Given the description of an element on the screen output the (x, y) to click on. 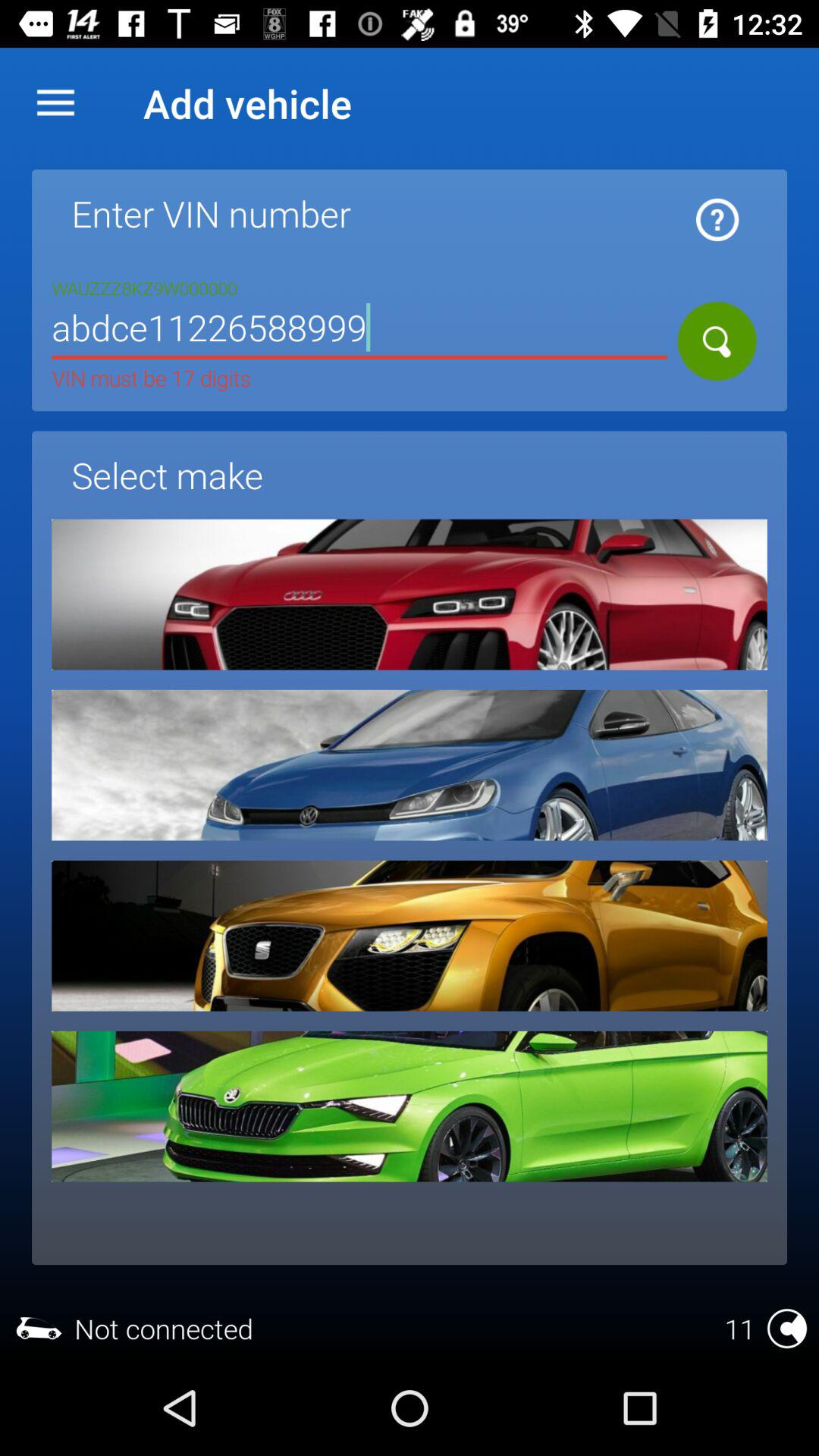
select icon next to add vehicle (55, 103)
